Given the description of an element on the screen output the (x, y) to click on. 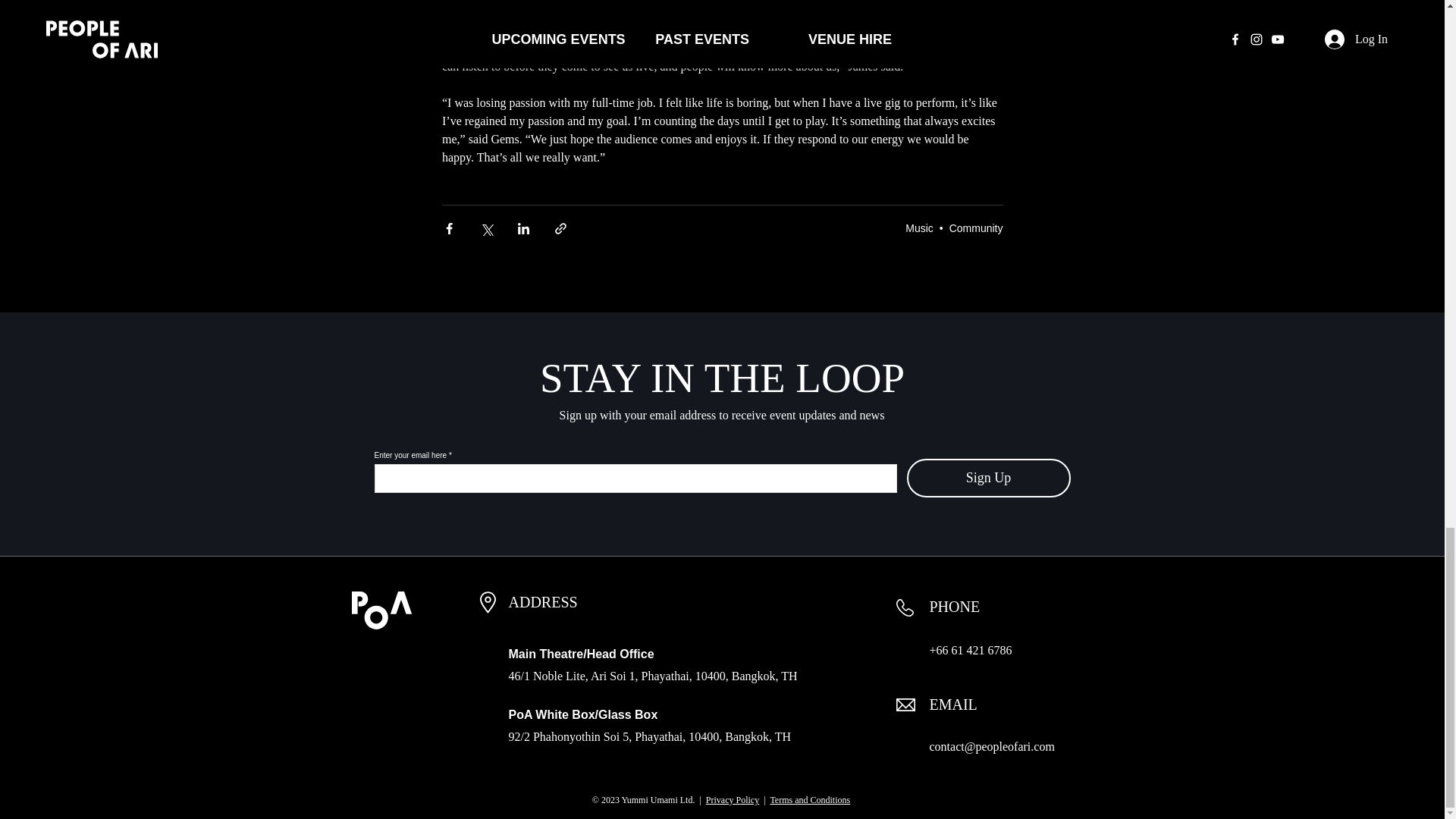
Community (976, 227)
Terms and Conditions (810, 799)
Sign Up (988, 477)
Privacy Policy (732, 799)
Music (919, 227)
